Given the description of an element on the screen output the (x, y) to click on. 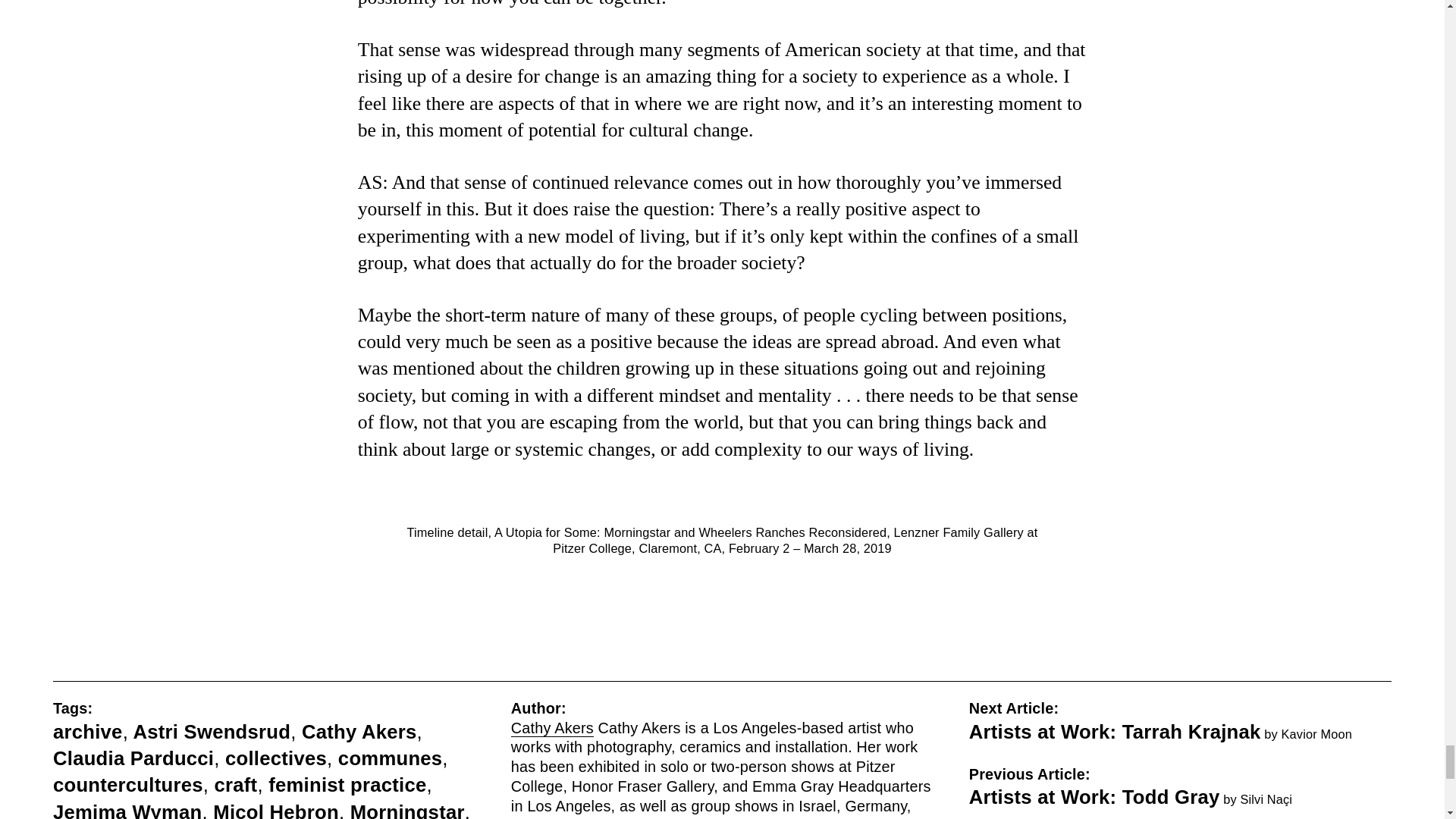
Cathy Akers (552, 728)
feminist practice (346, 784)
Cathy Akers (358, 731)
communes (389, 758)
Astri Swendsrud (210, 731)
collectives (275, 758)
craft (235, 784)
Claudia Parducci (133, 758)
countercultures (127, 784)
Micol Hebron (275, 810)
